Given the description of an element on the screen output the (x, y) to click on. 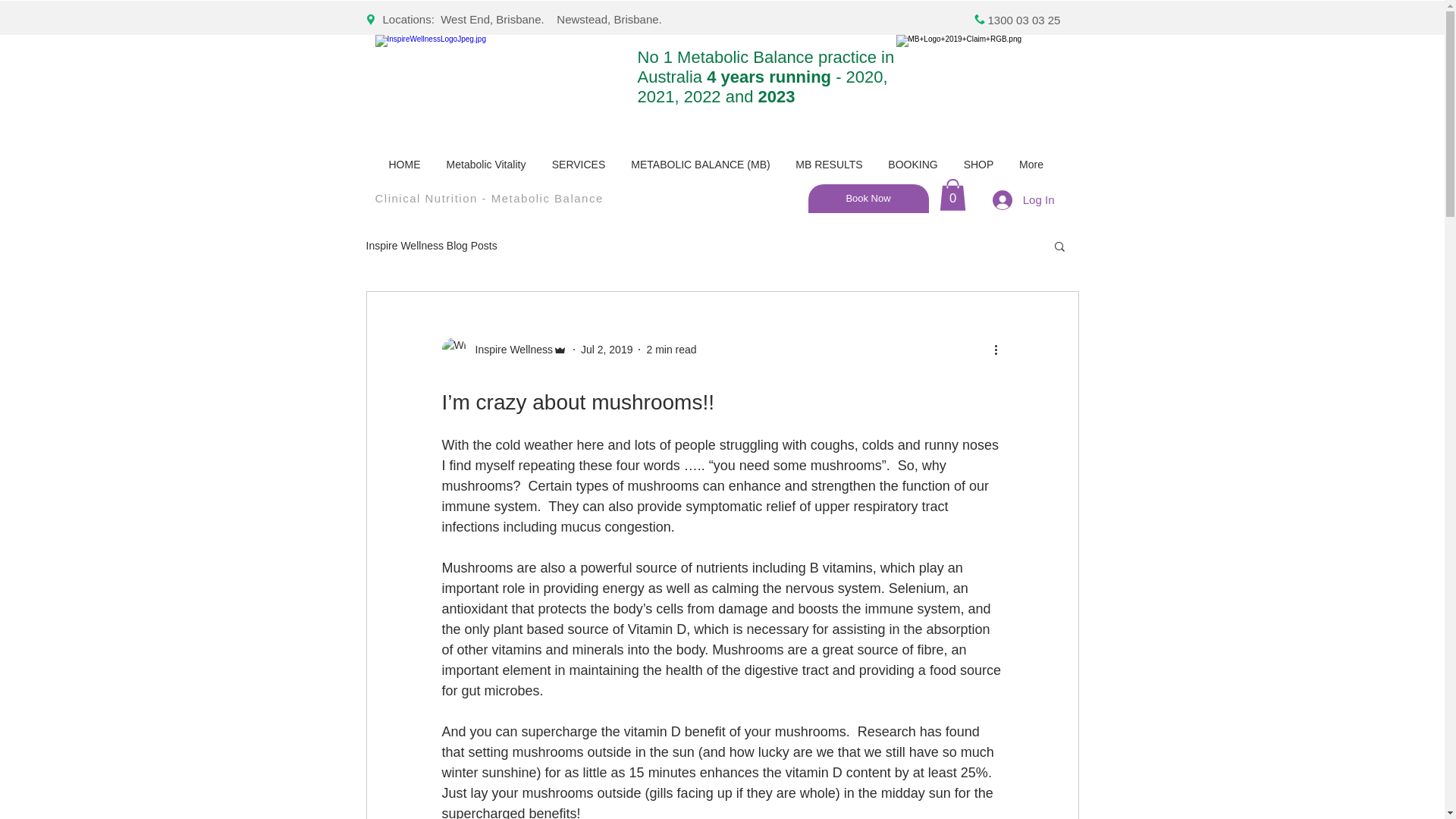
Book Now Element type: text (868, 198)
SHOP Element type: text (978, 164)
HOME Element type: text (404, 164)
METABOLIC BALANCE (MB) Element type: text (700, 164)
BOOKING Element type: text (912, 164)
Metabolic Vitality Element type: text (486, 164)
Log In Element type: text (1023, 199)
MB RESULTS Element type: text (828, 164)
Inspire Wellness Element type: text (503, 349)
Inspire Wellness Blog Posts Element type: text (430, 245)
0 Element type: text (951, 194)
SERVICES Element type: text (578, 164)
Clinical Nutrition - Metabolic Balance Element type: text (488, 197)
